Given the description of an element on the screen output the (x, y) to click on. 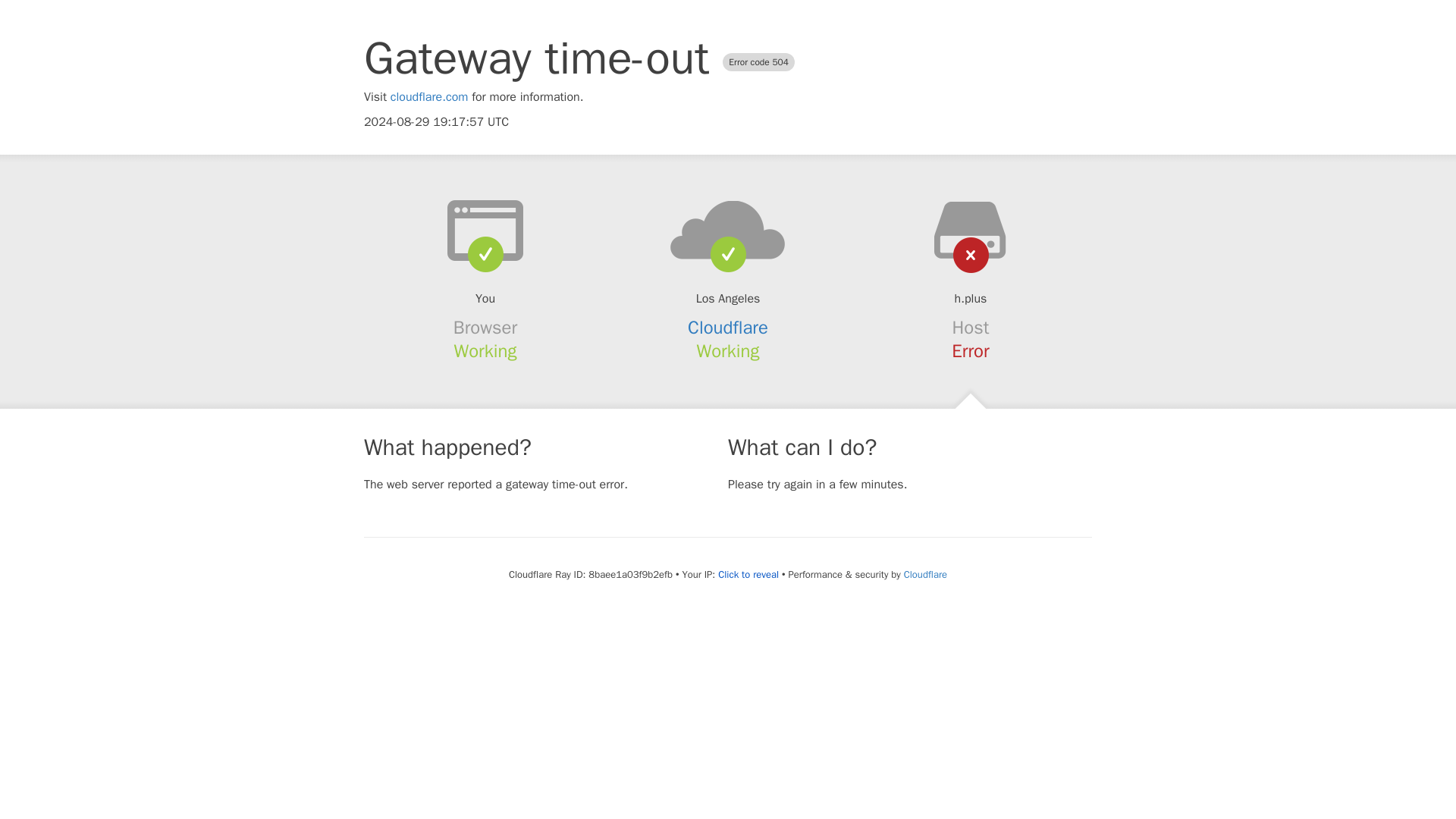
Cloudflare (925, 574)
Cloudflare (727, 327)
Click to reveal (747, 574)
cloudflare.com (429, 96)
